Given the description of an element on the screen output the (x, y) to click on. 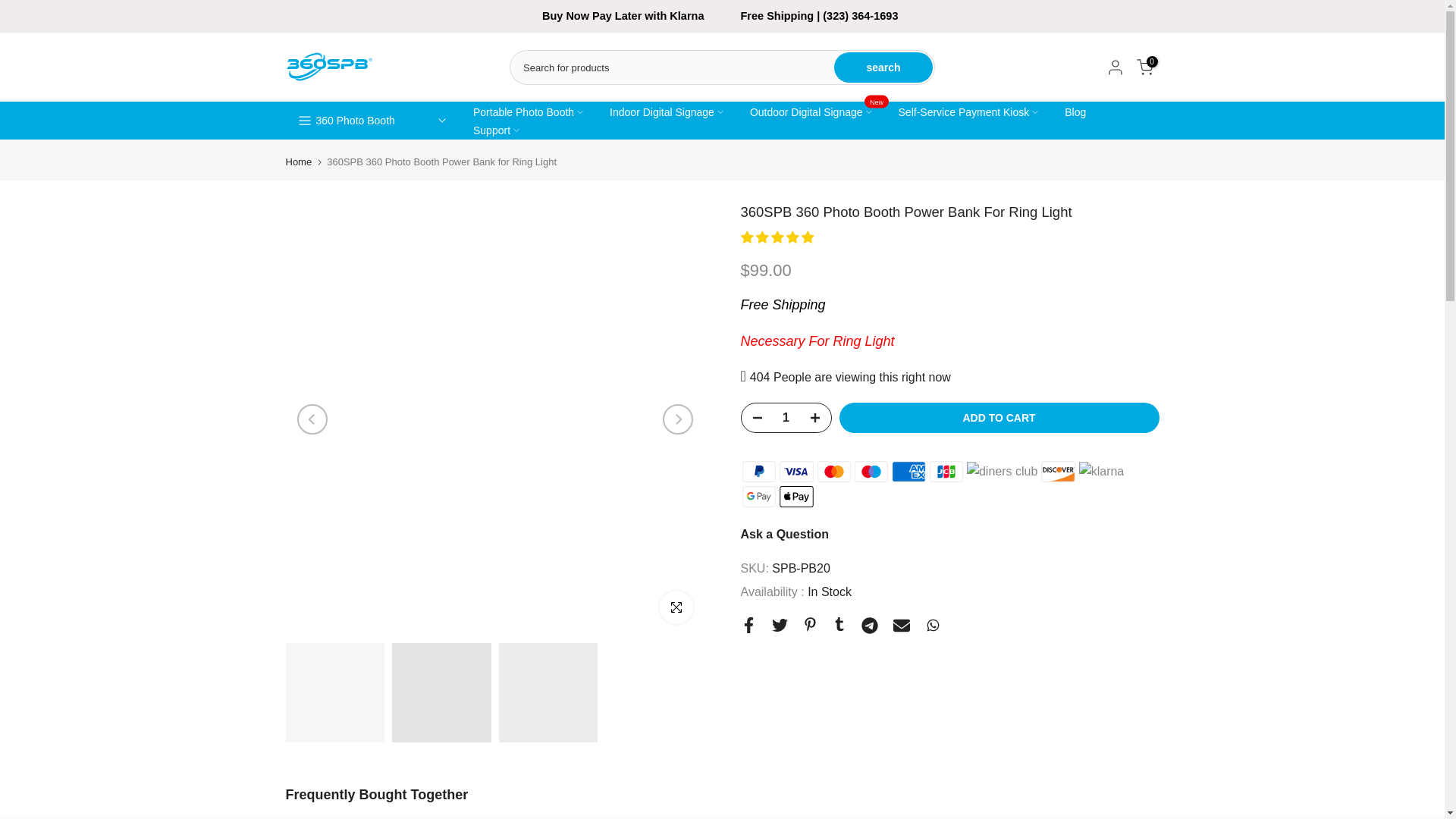
0 (1144, 67)
Share on WhatsApp (932, 625)
Share on Pinterest (809, 624)
Share on Telegram (869, 625)
Portable Photo Booth (527, 112)
Share on Twitter (779, 625)
1 (786, 417)
search (883, 67)
360 Photo Booth (354, 120)
Share on Tumblr (838, 623)
